Given the description of an element on the screen output the (x, y) to click on. 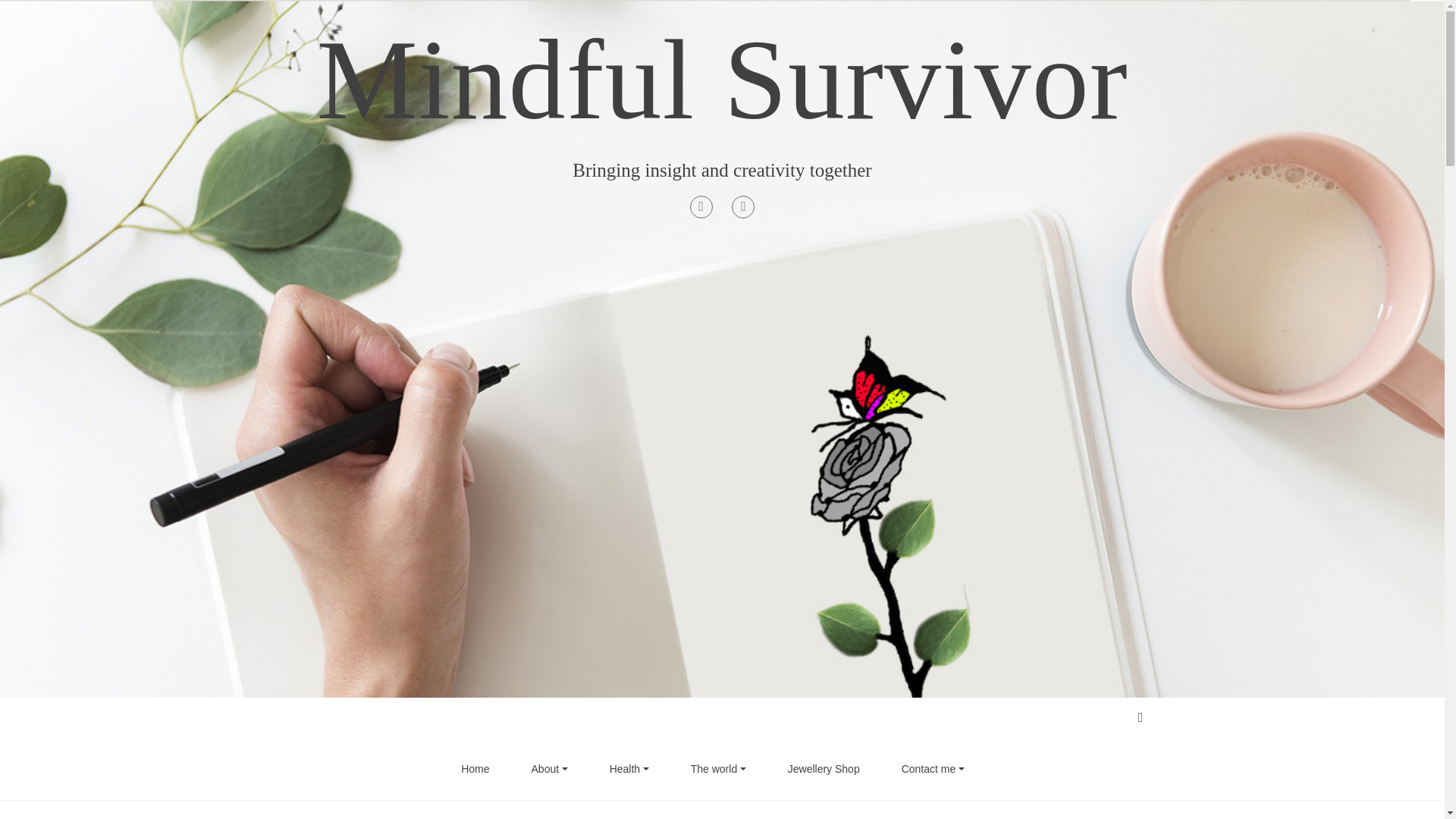
The world (718, 769)
Jewellery Shop (823, 769)
Health (629, 769)
About (549, 769)
About (549, 769)
Mindful Survivor (720, 79)
Contact me (932, 769)
Health (629, 769)
The world (718, 769)
Jewellery Shop (823, 769)
